Given the description of an element on the screen output the (x, y) to click on. 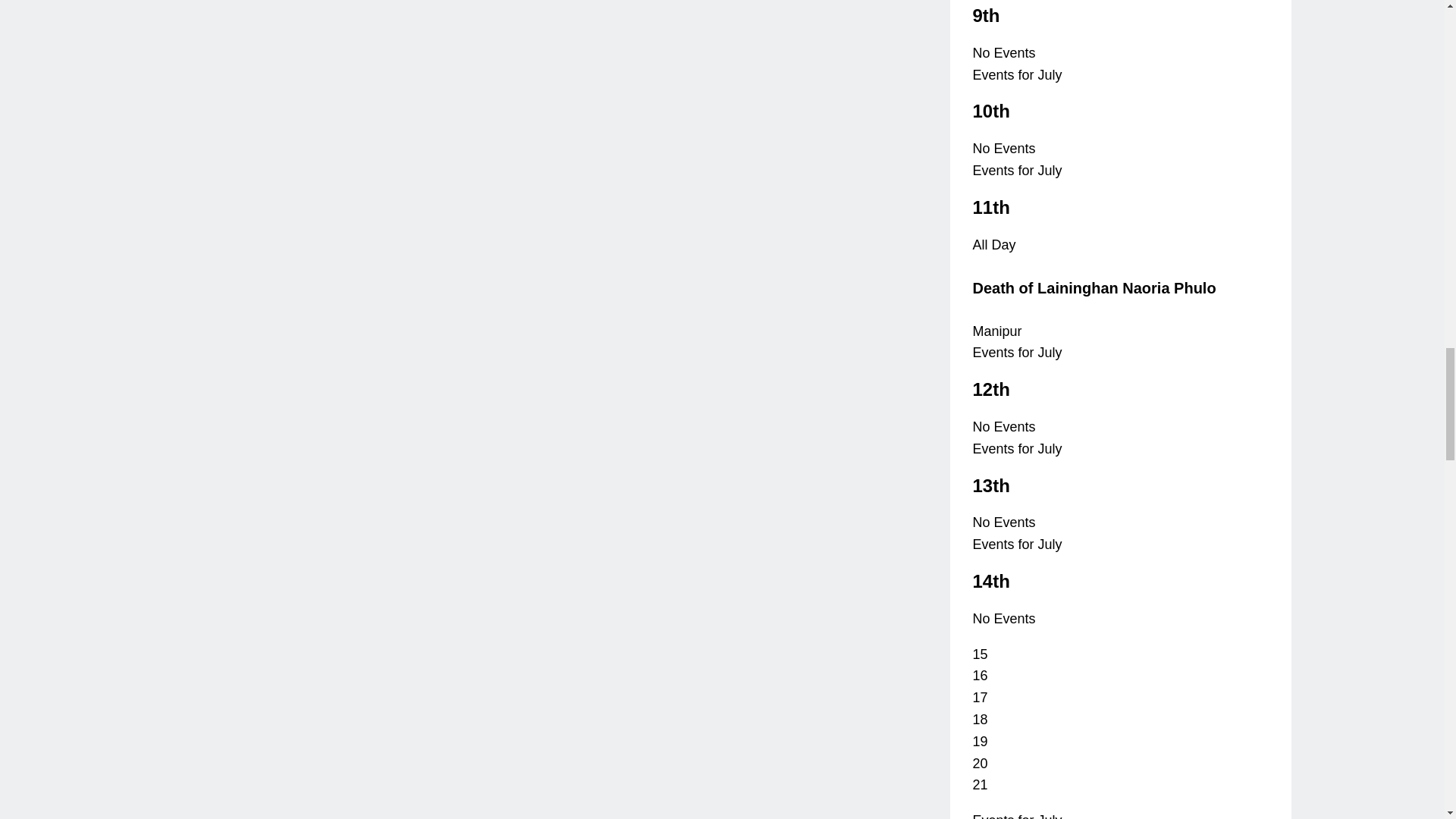
Death of Laininghan Naoria Phulo (1093, 288)
